Given the description of an element on the screen output the (x, y) to click on. 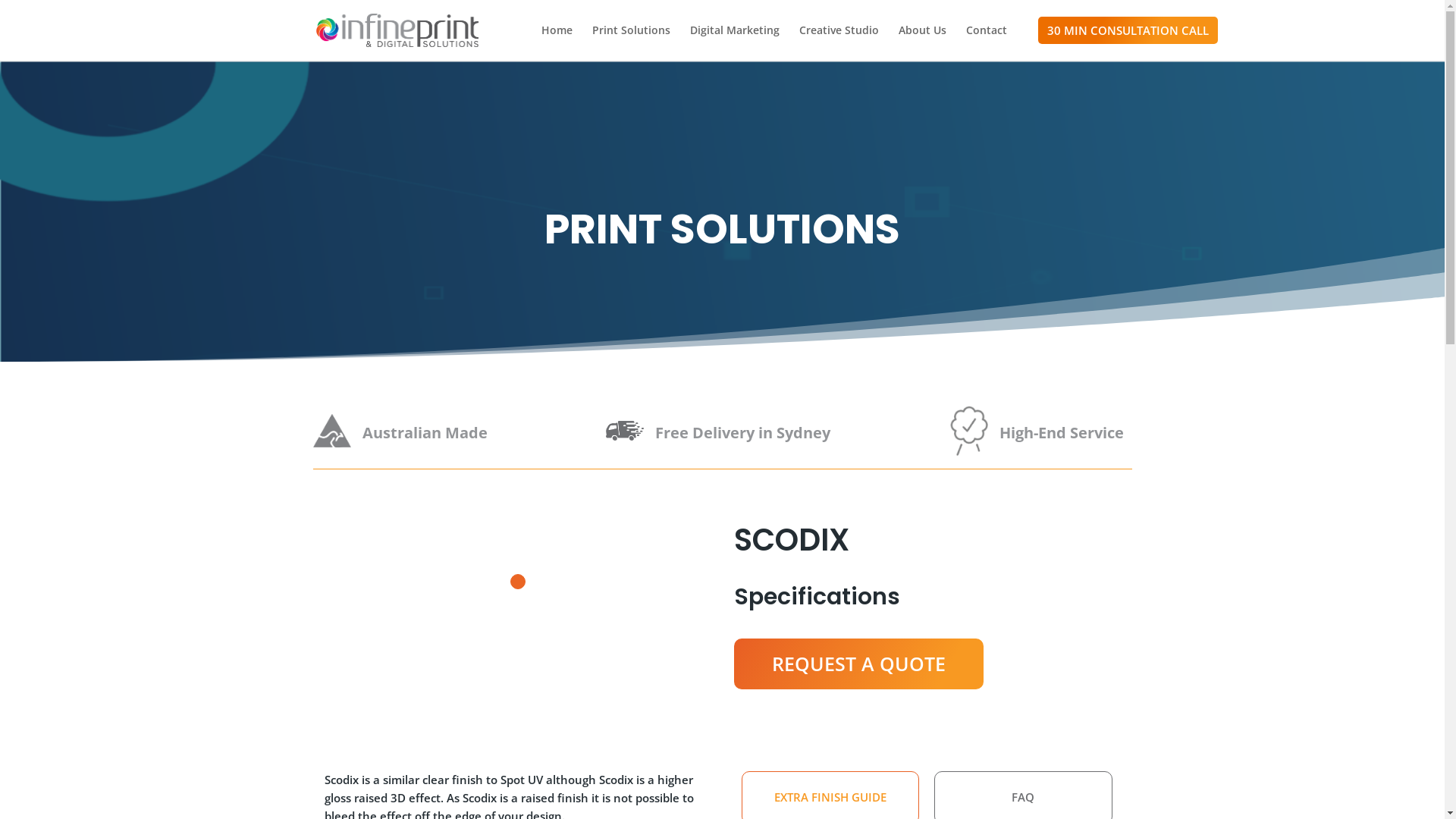
About Us Element type: text (921, 42)
REQUEST A QUOTE Element type: text (858, 664)
1 Element type: text (516, 581)
Digital Marketing Element type: text (734, 42)
Print Solutions Element type: text (630, 42)
Contact Element type: text (986, 42)
30 MIN CONSULTATION CALL Element type: text (1127, 29)
Home Element type: text (556, 42)
Creative Studio Element type: text (838, 42)
